Given the description of an element on the screen output the (x, y) to click on. 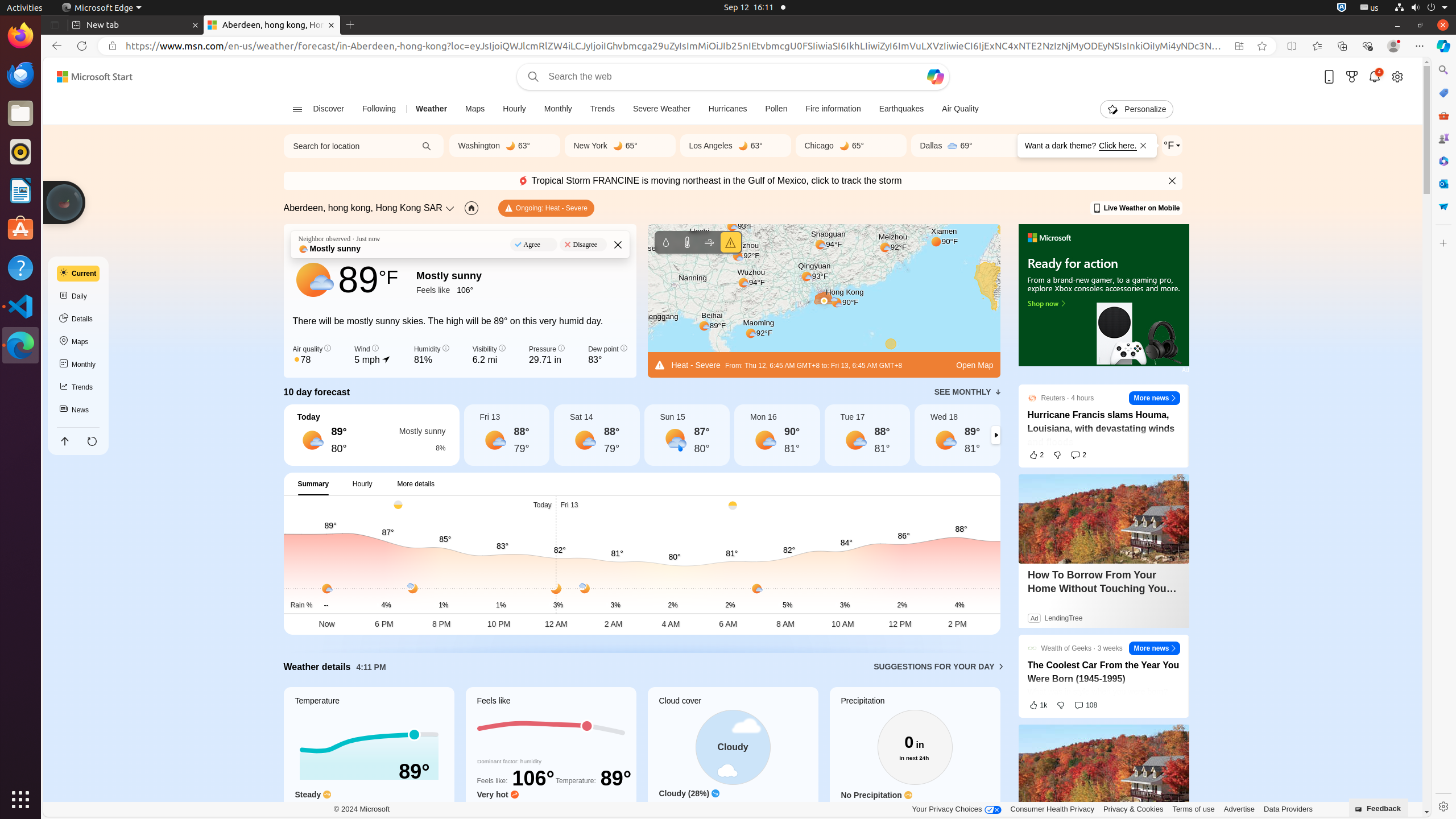
Humidity 81% Element type: link (431, 355)
Wed 18 Mostly sunny 89° 81° Element type: push-button (957, 434)
Wind 5 mph Element type: link (372, 355)
Ubuntu Software Element type: push-button (20, 229)
See 2 comments Element type: link (1078, 454)
